Given the description of an element on the screen output the (x, y) to click on. 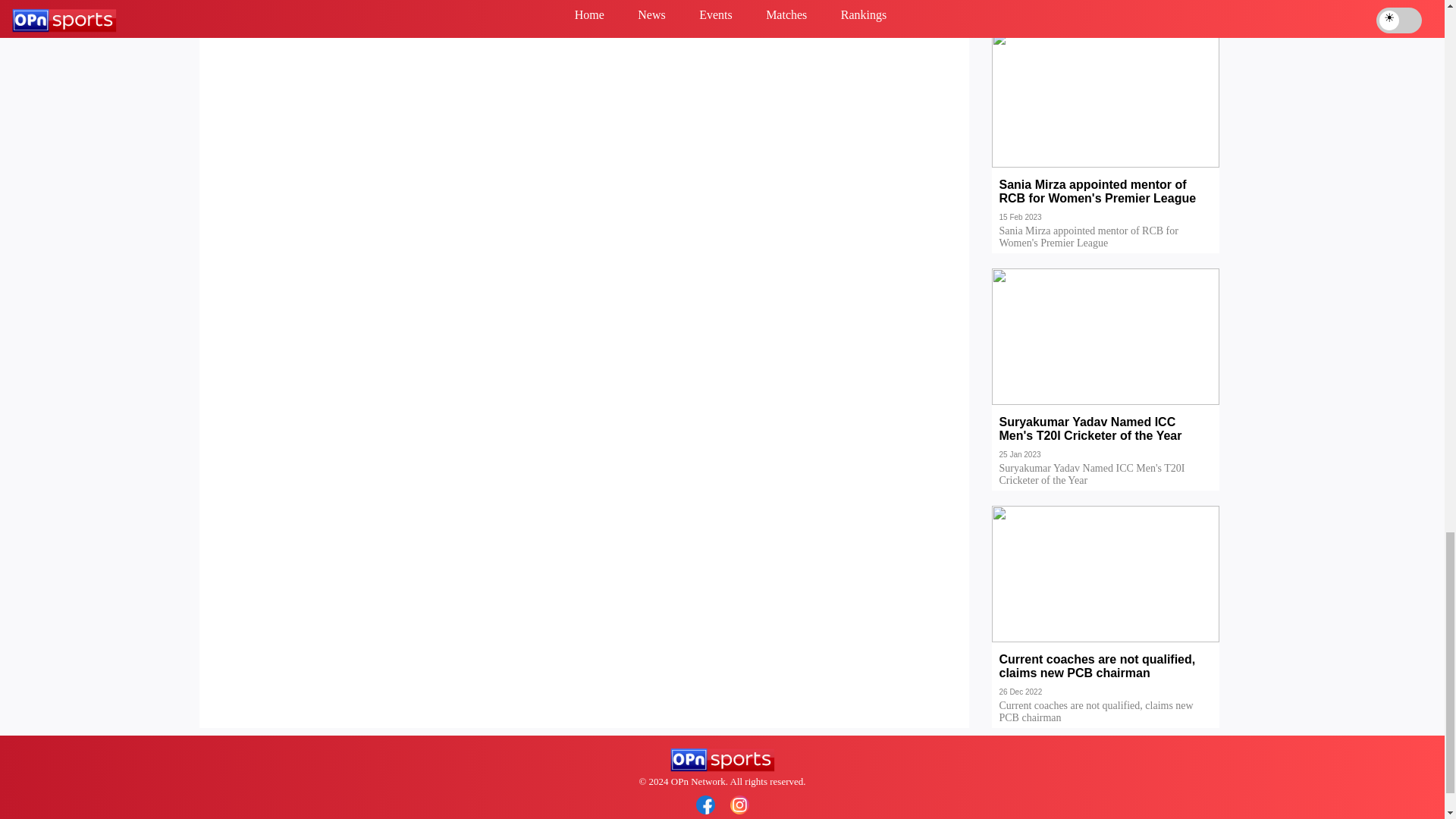
Current coaches are not qualified, claims new PCB chairman (1105, 676)
Suryakumar Yadav Named ICC Men's T20I Cricketer of the Year (1105, 439)
